Given the description of an element on the screen output the (x, y) to click on. 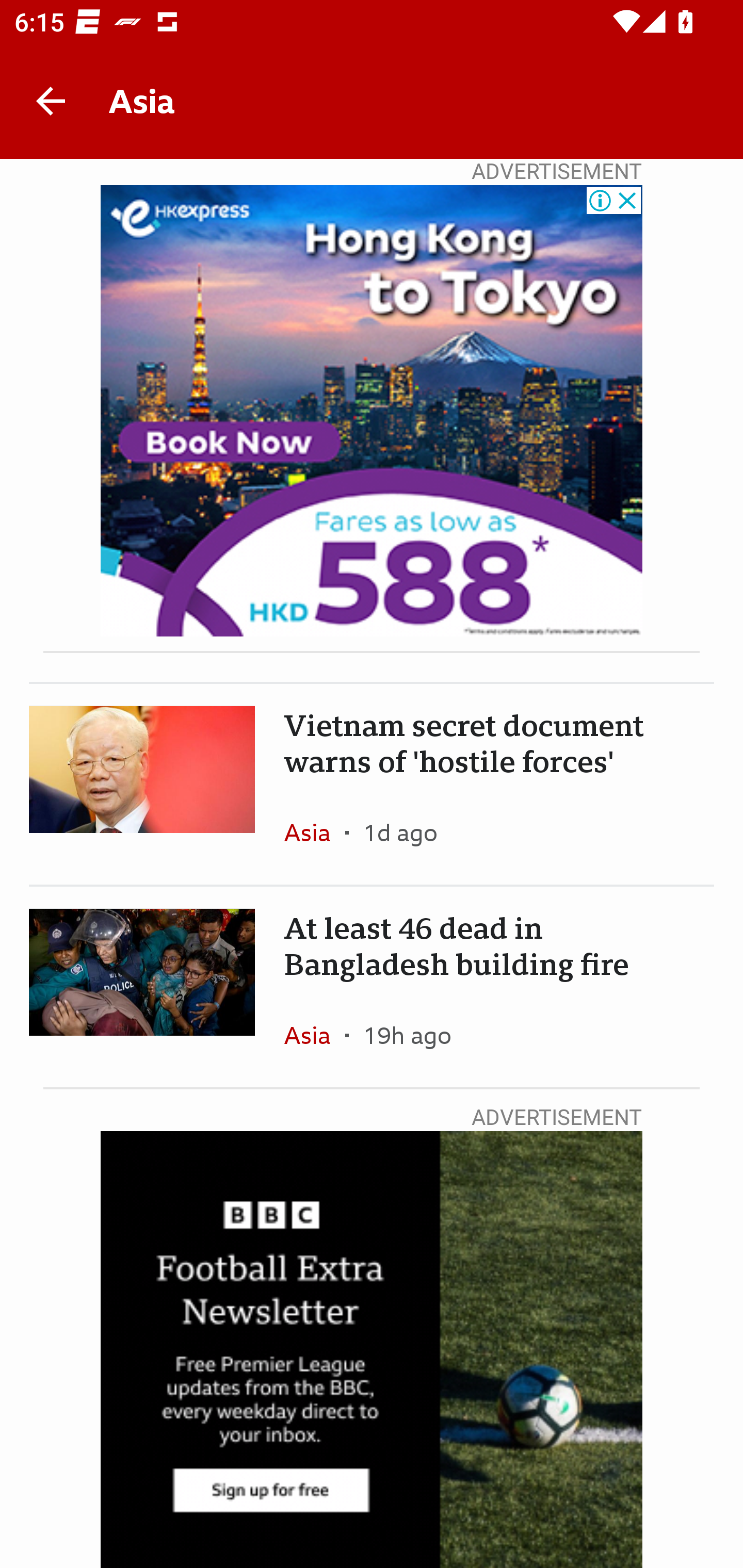
Back (50, 101)
Advertisement (371, 410)
Asia In the section Asia (314, 832)
Asia In the section Asia (314, 1034)
